Given the description of an element on the screen output the (x, y) to click on. 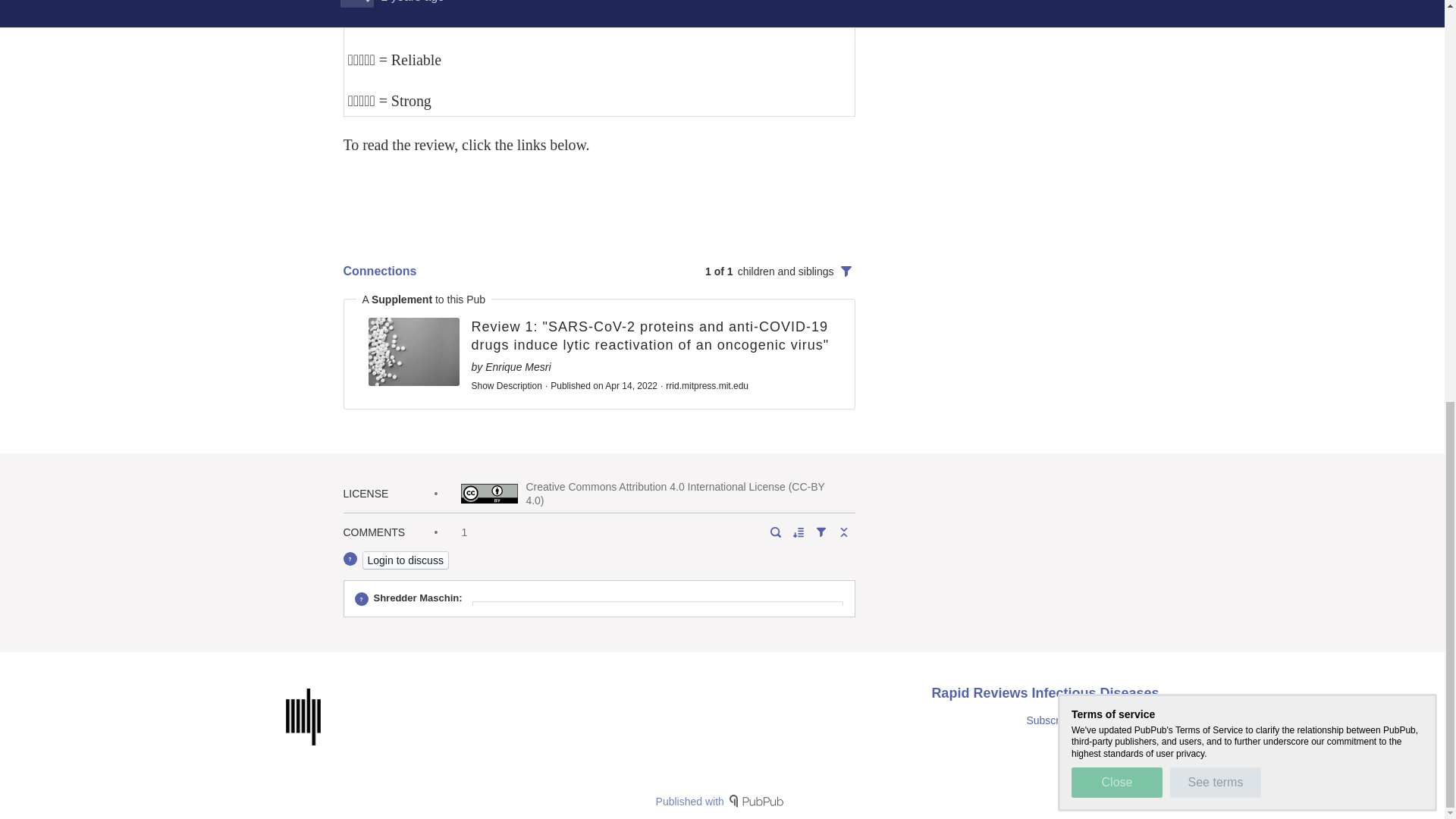
Close (1116, 4)
Login to discuss (405, 560)
See terms (1215, 4)
